Given the description of an element on the screen output the (x, y) to click on. 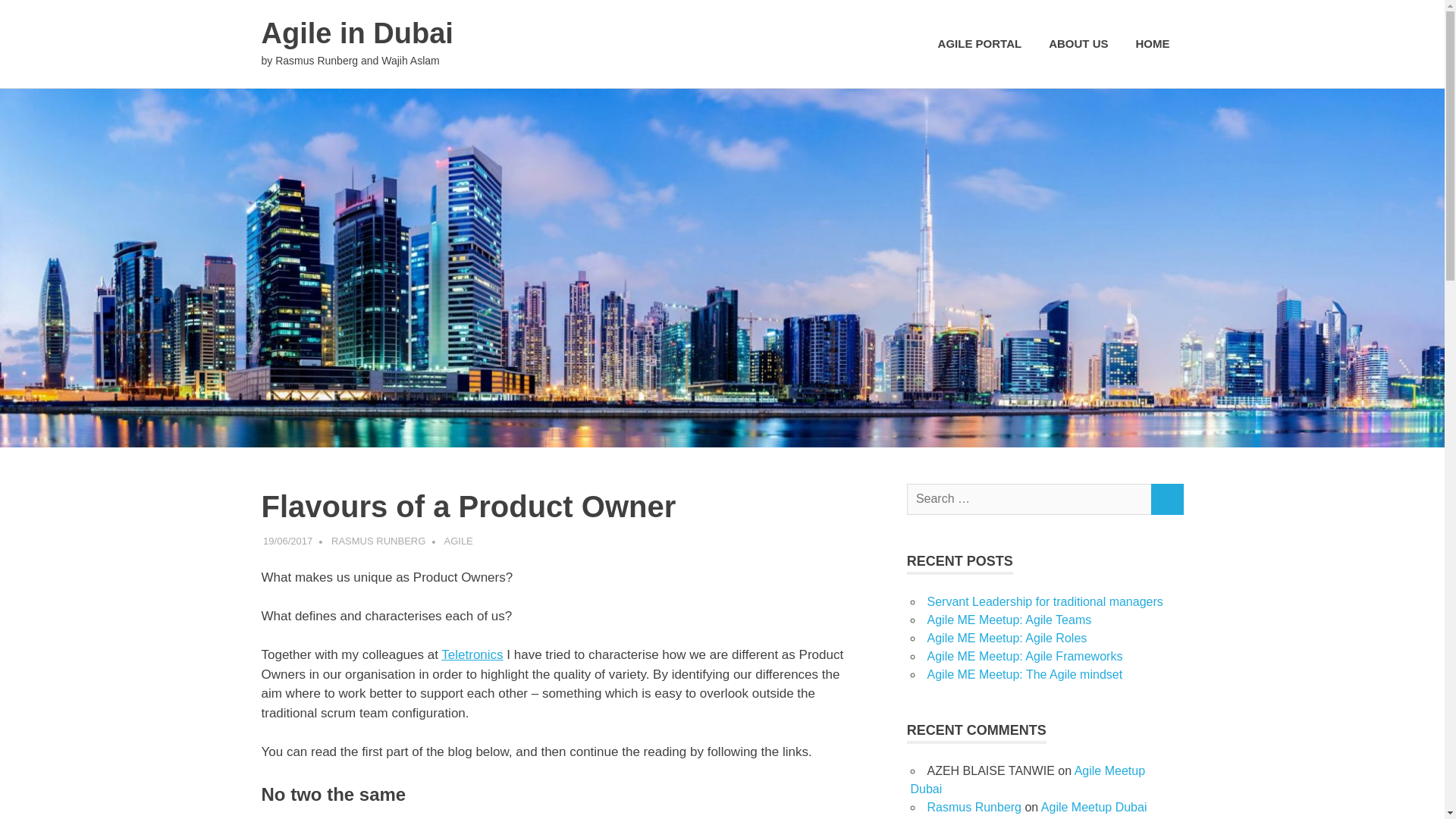
RASMUS RUNBERG (378, 541)
Agile ME Meetup: Agile Teams (1008, 619)
Agile Meetup Dubai (1094, 807)
Agile Meetup Dubai (1027, 779)
Agile ME Meetup: Agile Frameworks (1024, 656)
Agile ME Meetup: Agile Roles (1006, 637)
View all posts by Rasmus Runberg (378, 541)
HOME (1152, 44)
Teletronics (471, 654)
ABOUT US (1078, 44)
Rasmus Runberg (974, 807)
Servant Leadership for traditional managers (1043, 601)
Search for: (1029, 499)
Agile in Dubai (356, 33)
